Given the description of an element on the screen output the (x, y) to click on. 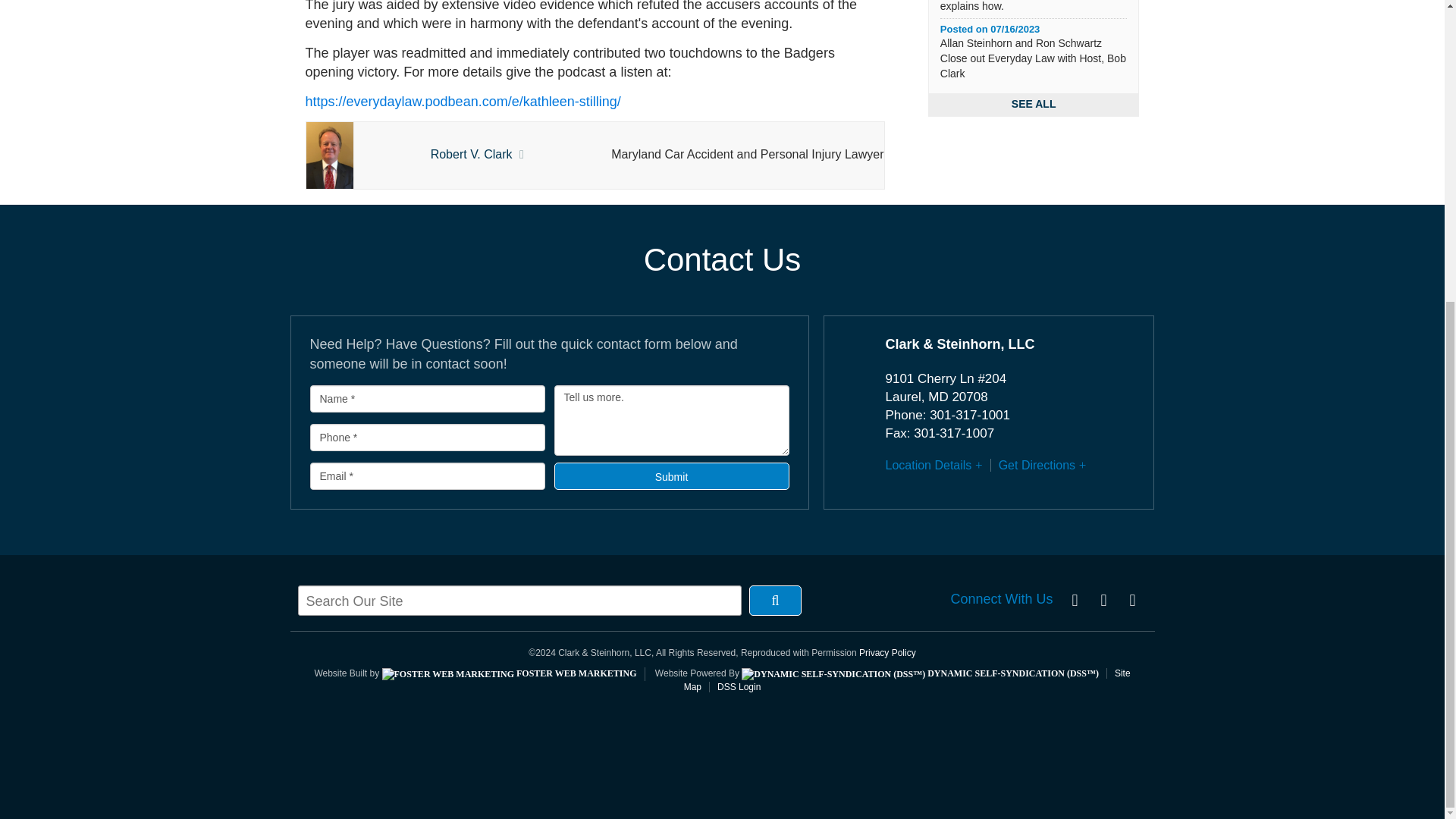
Location Details (928, 464)
SEE ALL (1034, 104)
Submit (671, 475)
Robert V. Clark (471, 154)
Search (774, 600)
Get Directions (1036, 464)
